Given the description of an element on the screen output the (x, y) to click on. 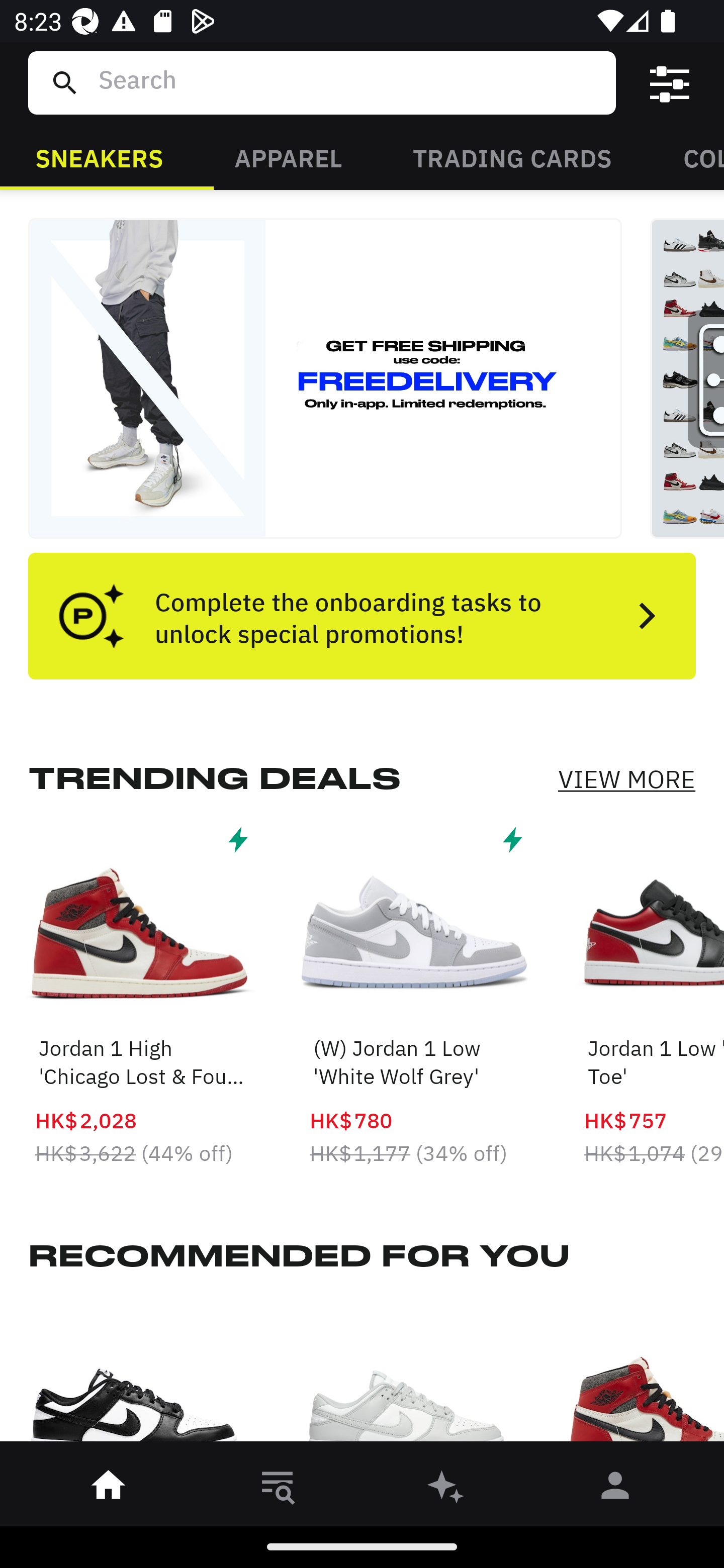
Search (349, 82)
 (669, 82)
SNEAKERS (99, 156)
APPAREL (287, 156)
TRADING CARDS (512, 156)
VIEW MORE (626, 779)
󰋜 (108, 1488)
󱎸 (277, 1488)
󰫢 (446, 1488)
󰀄 (615, 1488)
